Given the description of an element on the screen output the (x, y) to click on. 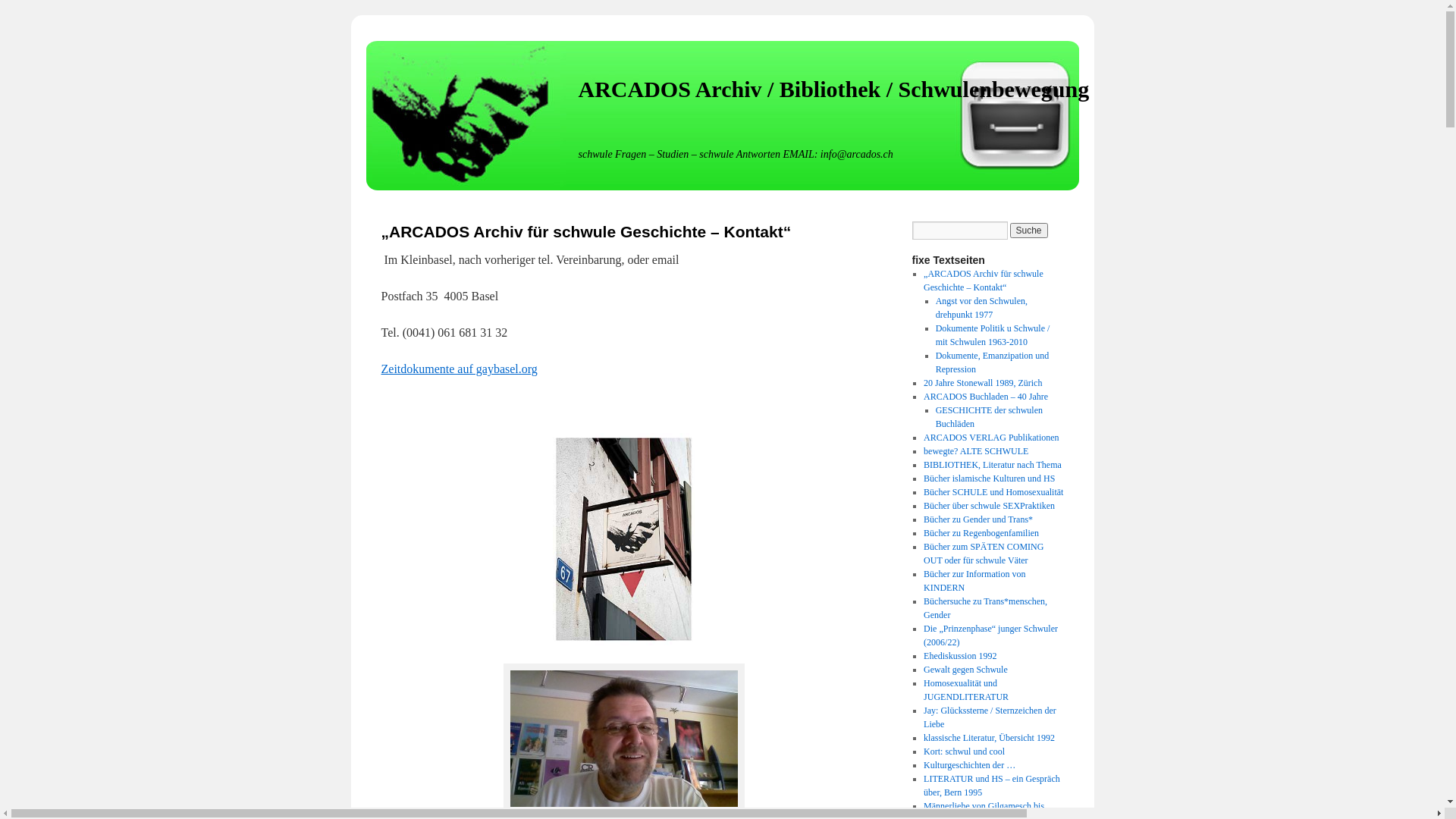
ARCADOS VERLAG Publikationen Element type: text (990, 437)
ARC Element type: hover (623, 539)
Zeitdokumente auf gaybasel.org Element type: text (458, 368)
bewegte? ALTE SCHWULE Element type: text (975, 450)
Gewalt gegen Schwule Element type: text (965, 669)
Kort: schwul und cool Element type: text (963, 751)
Suche Element type: text (1029, 230)
ARCADOS Archiv / Bibliothek / Schwulenbewegung Element type: text (832, 88)
BIBLIOTHEK, Literatur nach Thema Element type: text (992, 464)
Angst vor den Schwulen, drehpunkt 1977 Element type: text (981, 307)
Dokumente, Emanzipation und Repression Element type: text (992, 362)
Ehediskussion 1992 Element type: text (959, 655)
Dokumente Politik u Schwule / mit Schwulen 1963-2010 Element type: text (992, 335)
